Given the description of an element on the screen output the (x, y) to click on. 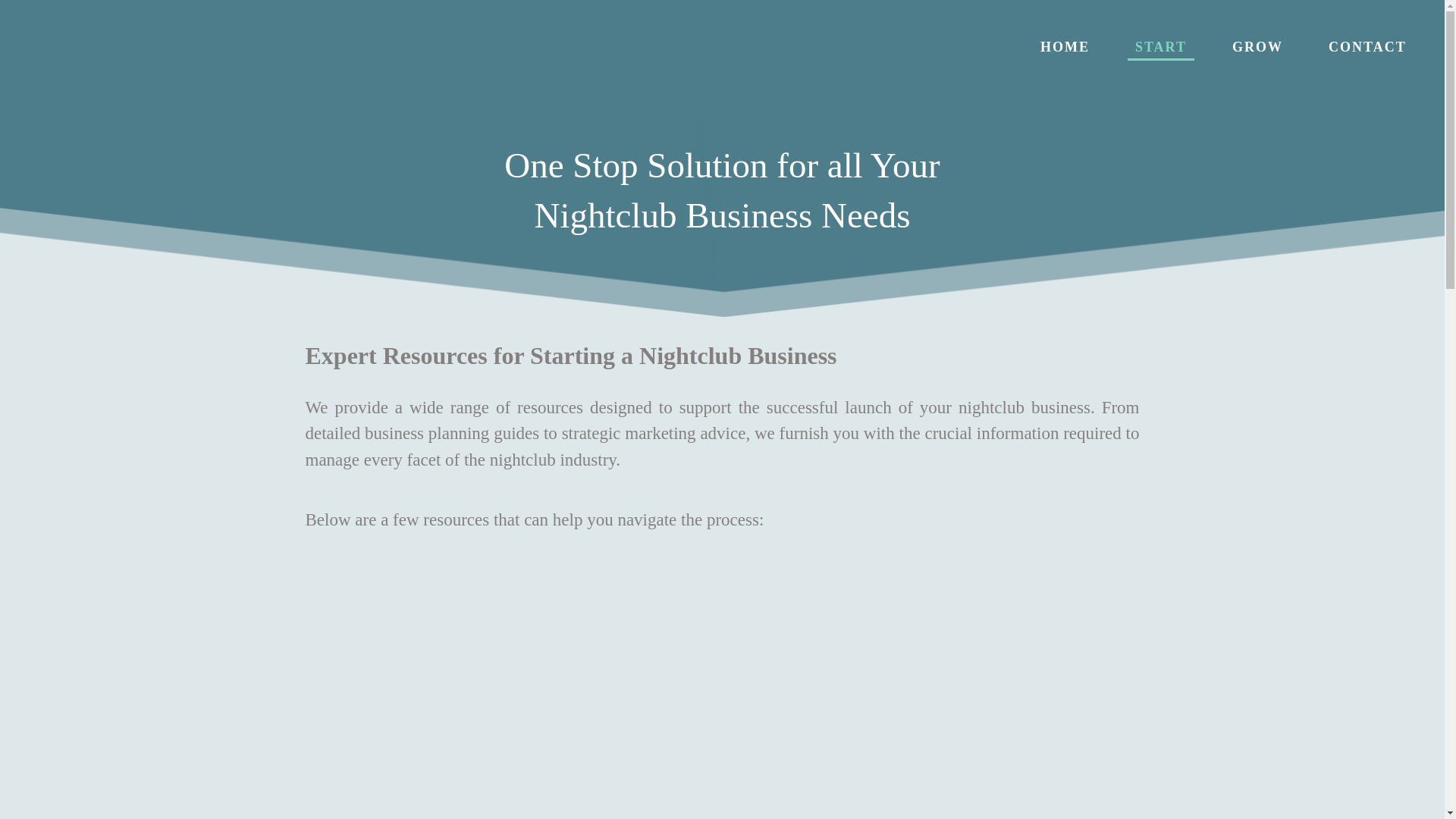
GROW (1257, 47)
Nightclub Mavericks Logo (210, 46)
START (1159, 47)
CONTACT (1366, 47)
HOME (1064, 47)
